Given the description of an element on the screen output the (x, y) to click on. 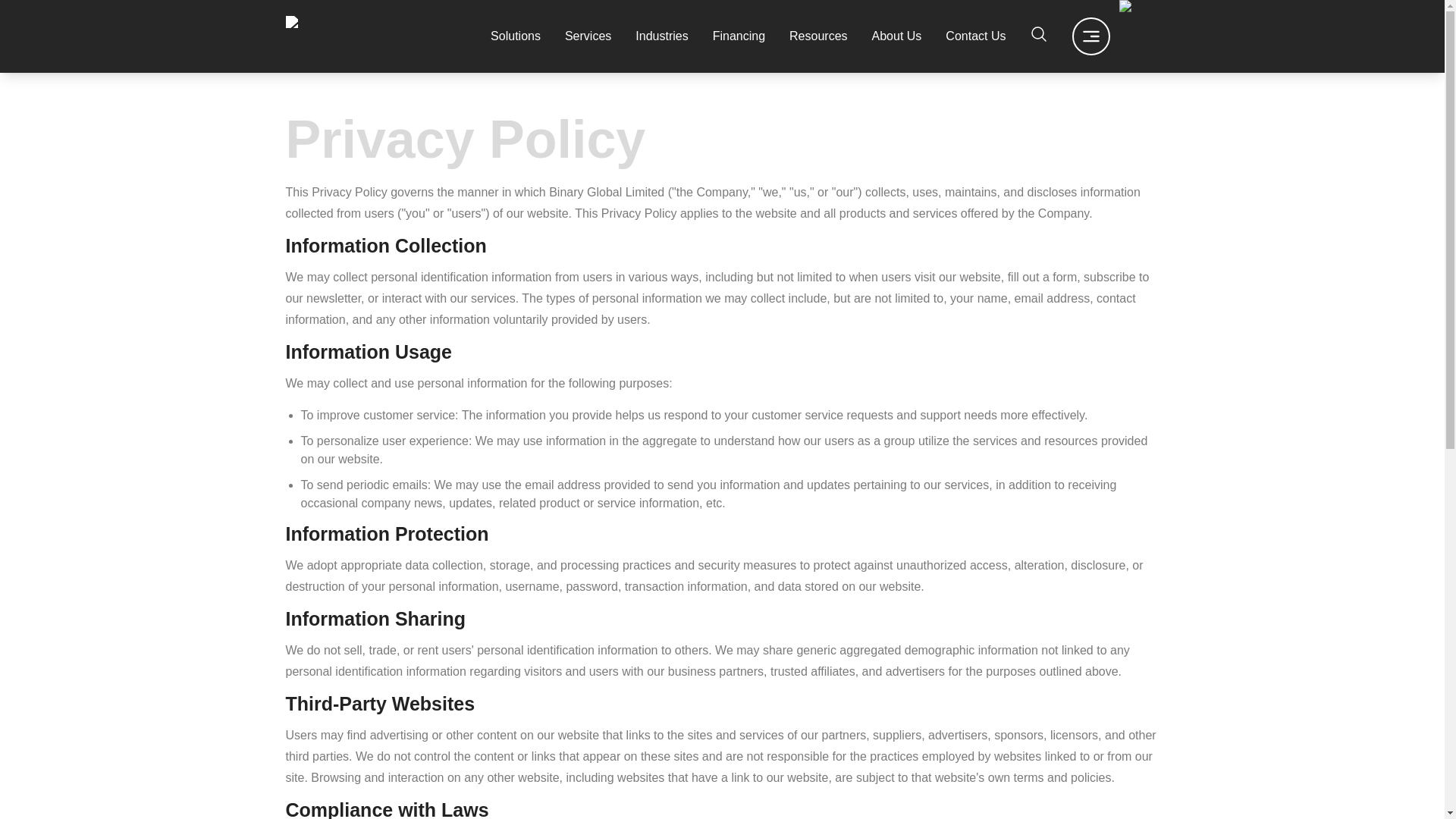
Services (587, 36)
Contact Us (975, 36)
Solutions (515, 36)
About Us (896, 36)
Resources (818, 36)
Industries (660, 36)
Financing (739, 36)
